Given the description of an element on the screen output the (x, y) to click on. 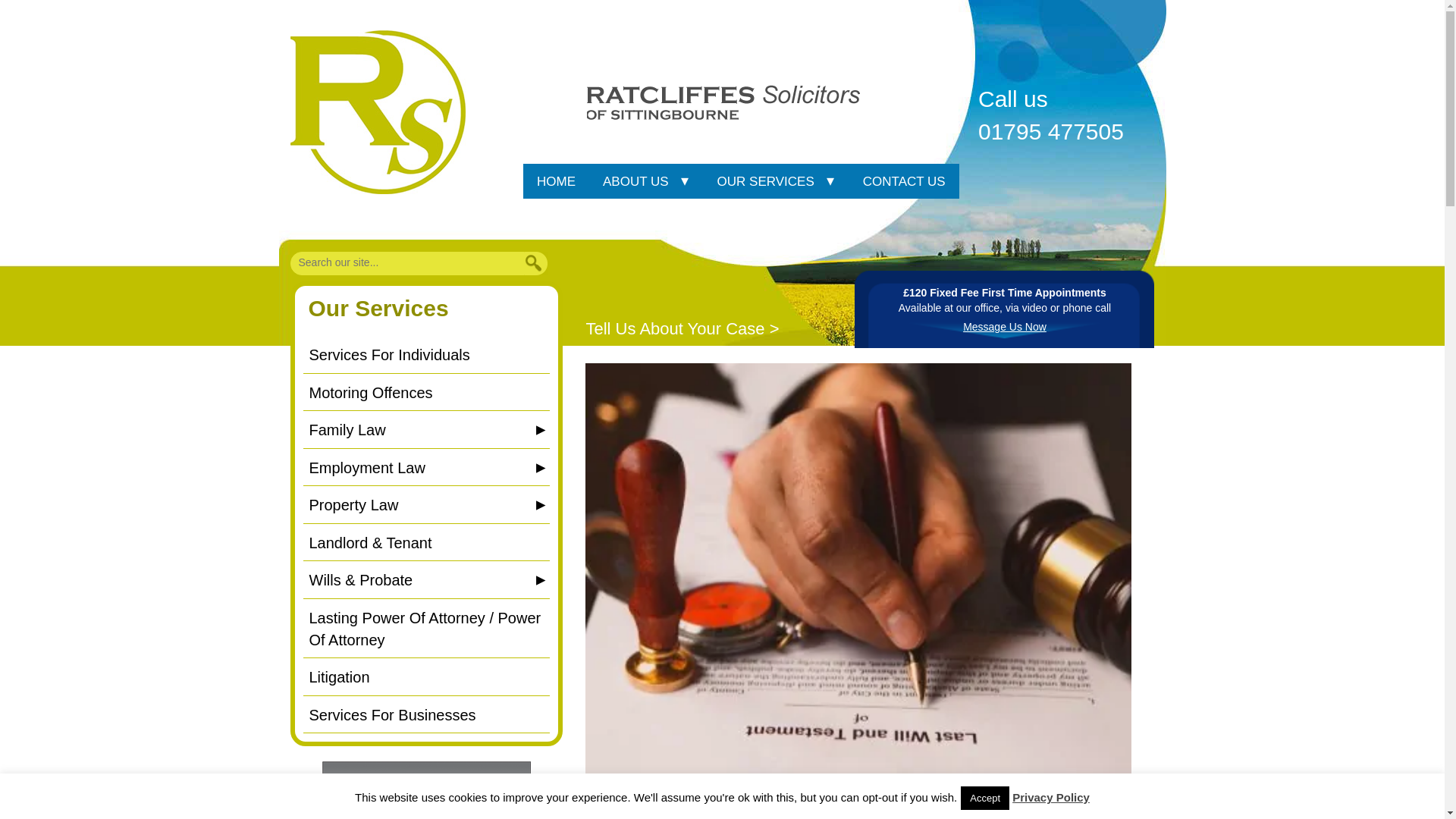
01795 477505 (1066, 132)
Ratcliffes Solicitors (725, 102)
Ratcliffes Solicitors (384, 111)
